Given the description of an element on the screen output the (x, y) to click on. 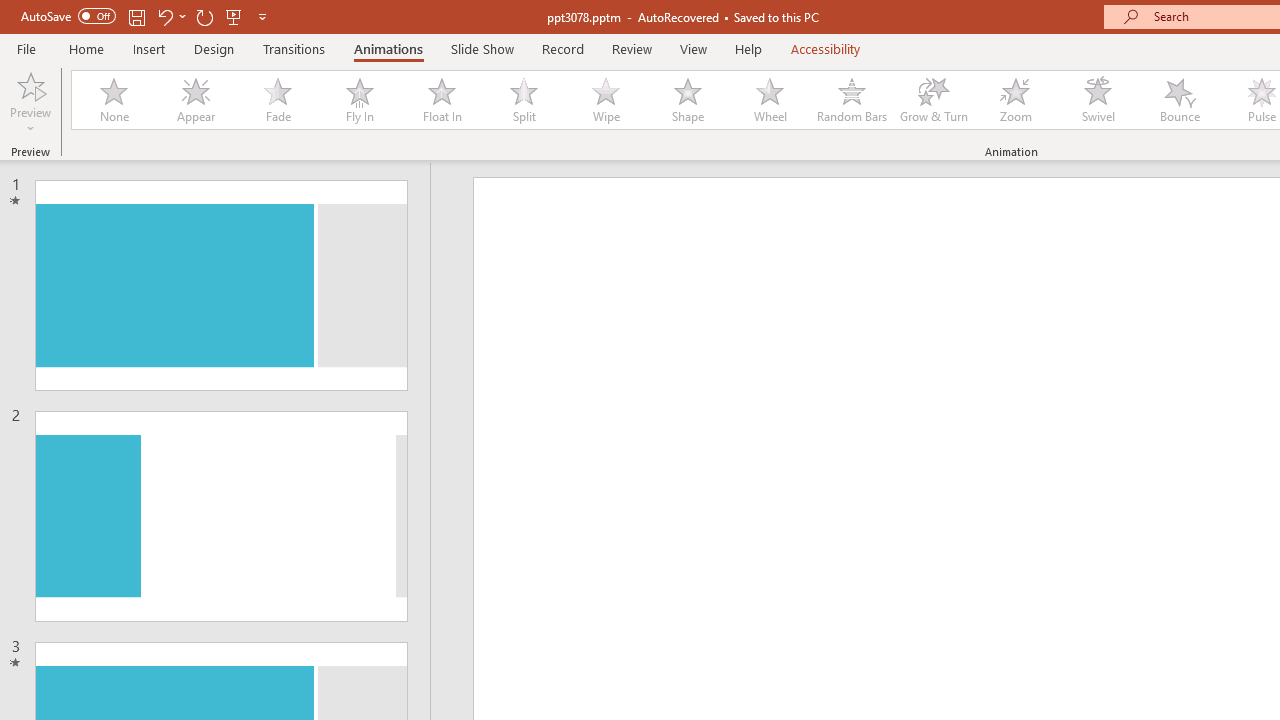
Zoom (1016, 100)
View (693, 48)
Slide (221, 515)
Undo (170, 15)
Undo (164, 15)
Bounce (1180, 100)
From Beginning (234, 15)
Animations (388, 48)
Insert (149, 48)
Split (523, 100)
File Tab (26, 48)
Preview (30, 84)
Transitions (294, 48)
Redo (204, 15)
